Given the description of an element on the screen output the (x, y) to click on. 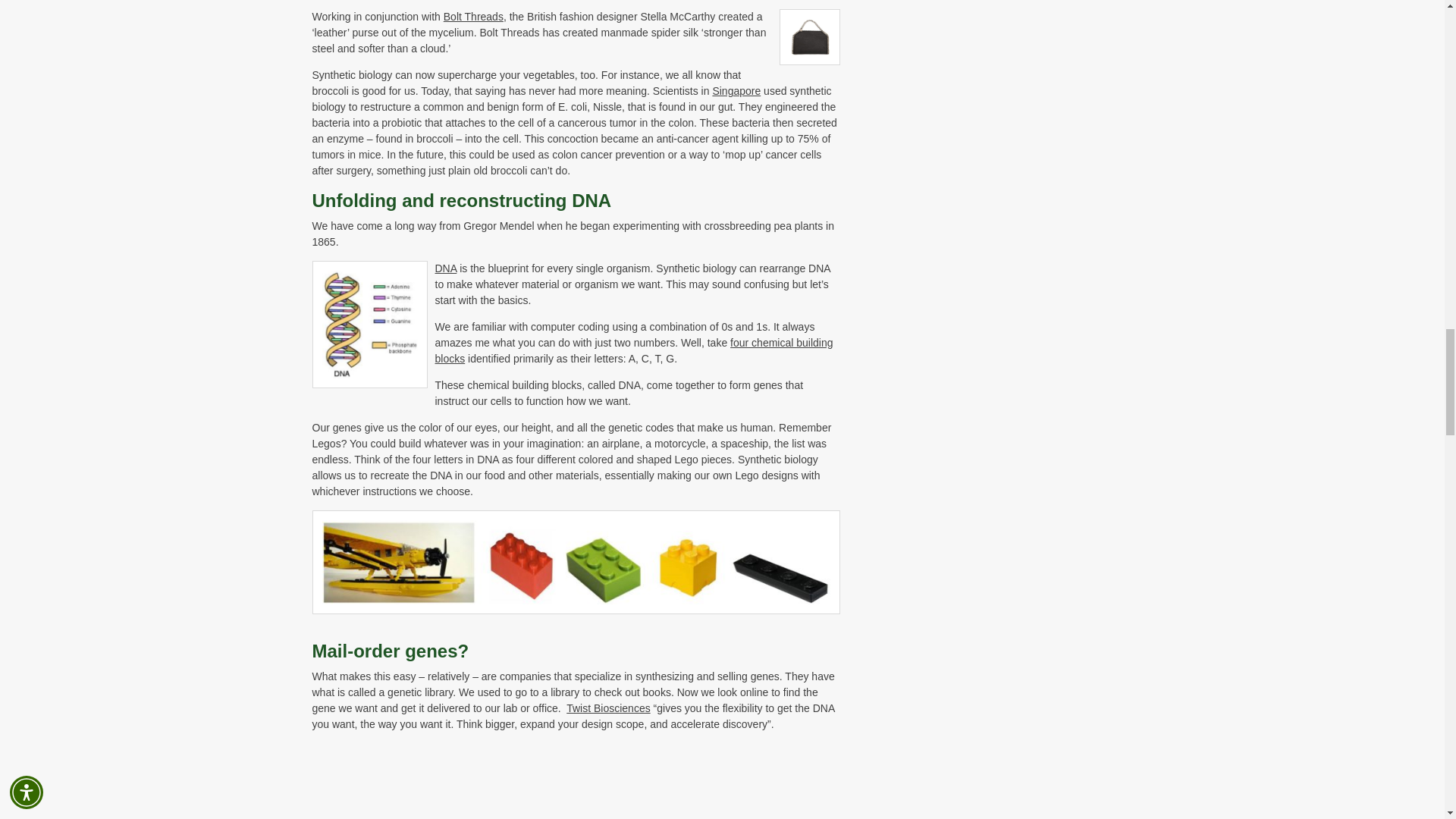
Singapore (735, 91)
Bolt Threads (473, 16)
DNA (446, 268)
YouTube video player (524, 780)
